Given the description of an element on the screen output the (x, y) to click on. 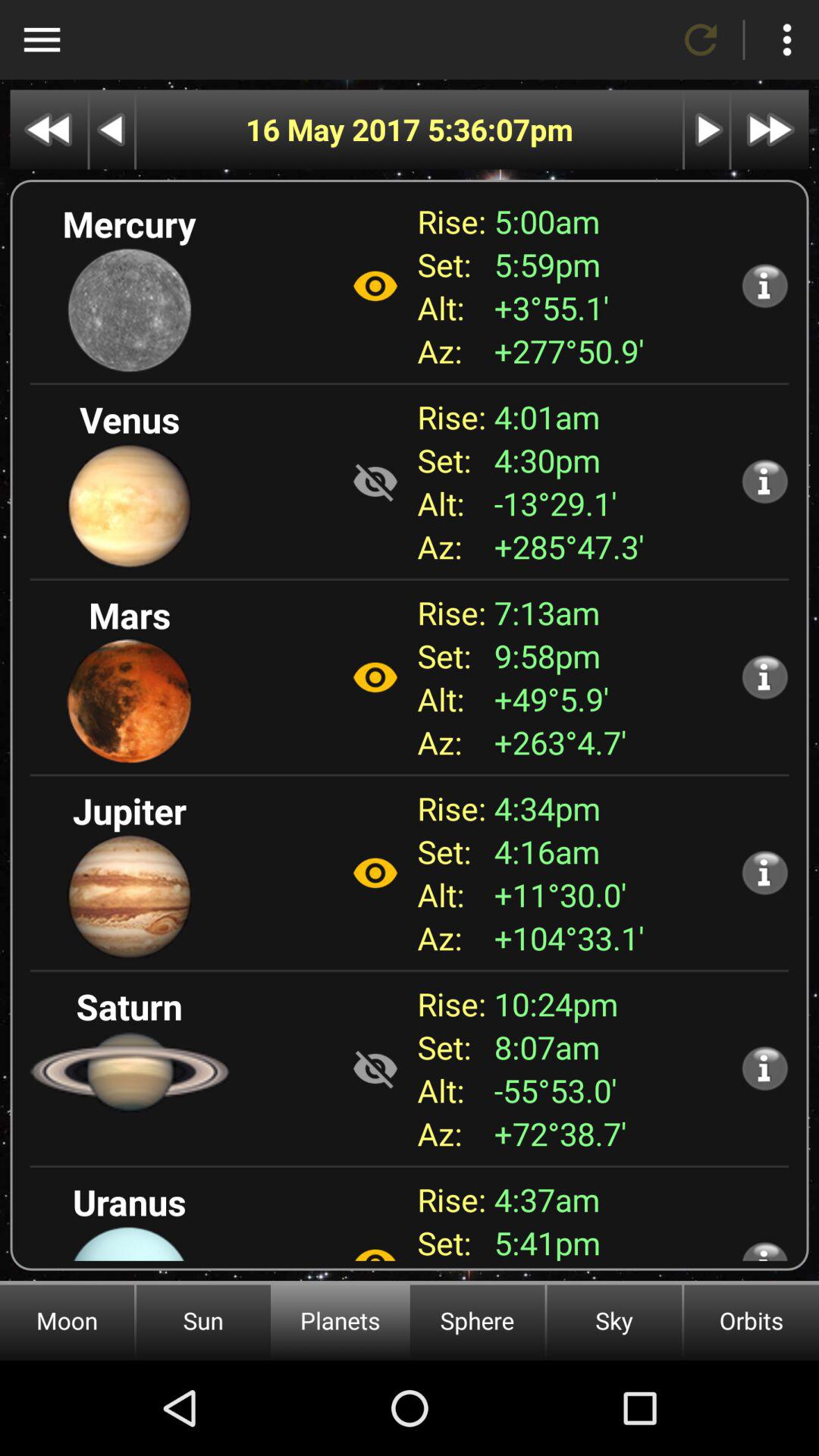
show hide option (375, 872)
